Given the description of an element on the screen output the (x, y) to click on. 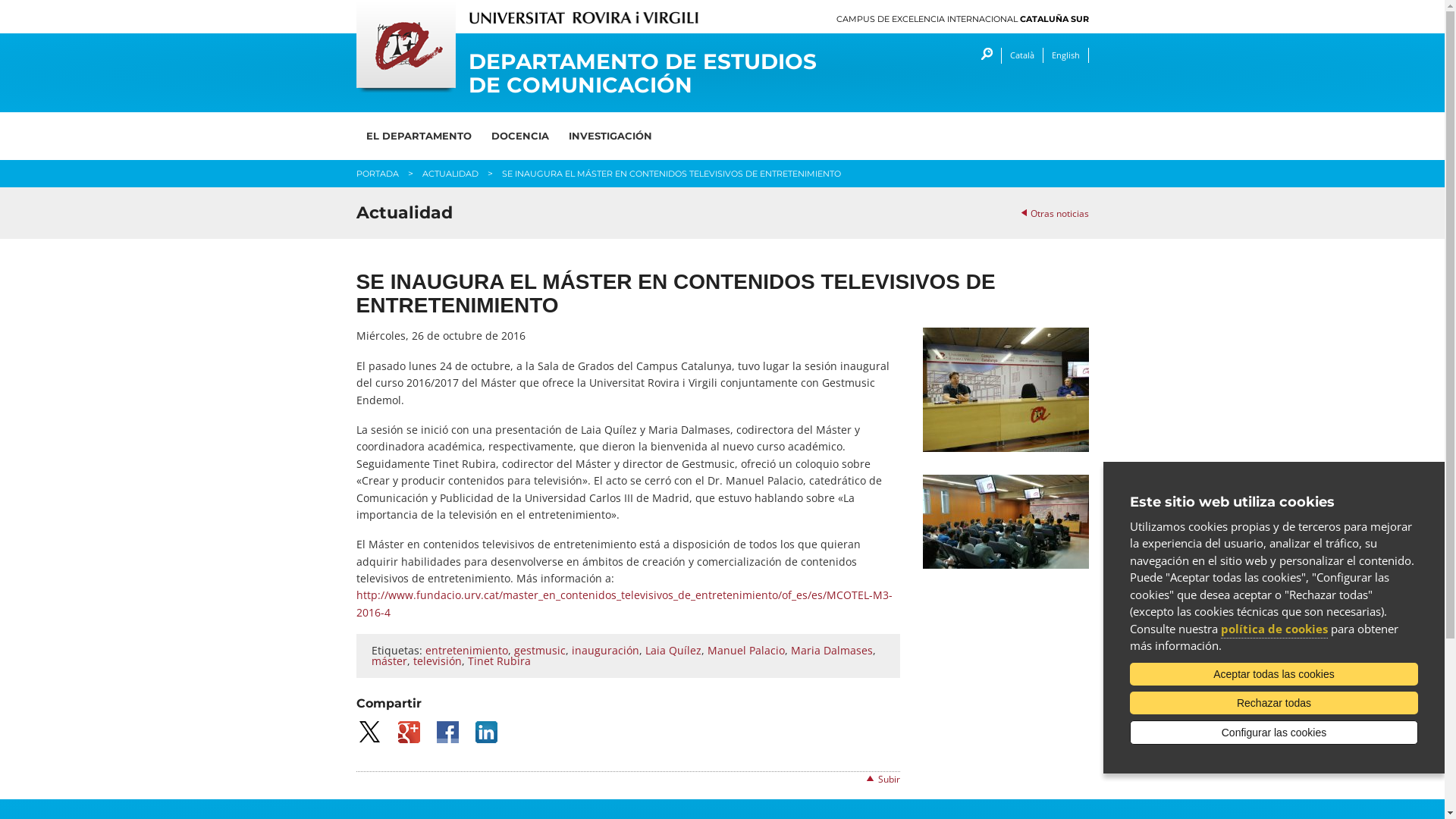
Manuel Palacio Element type: text (745, 650)
ACTUALIDAD Element type: text (449, 173)
Buscar Element type: text (982, 55)
Otras noticias Element type: text (1054, 213)
Tinet Rubira Element type: text (498, 660)
EL DEPARTAMENTO Element type: text (418, 136)
English Element type: text (1065, 54)
gestmusic Element type: text (539, 650)
Subir Element type: text (889, 778)
DOCENCIA Element type: text (519, 136)
PORTADA Element type: text (377, 173)
Configurar las cookies Element type: text (1273, 732)
Maria Dalmases Element type: text (831, 650)
Rechazar todas Element type: text (1273, 702)
Aceptar todas las cookies Element type: text (1273, 673)
entretenimiento Element type: text (465, 650)
